Given the description of an element on the screen output the (x, y) to click on. 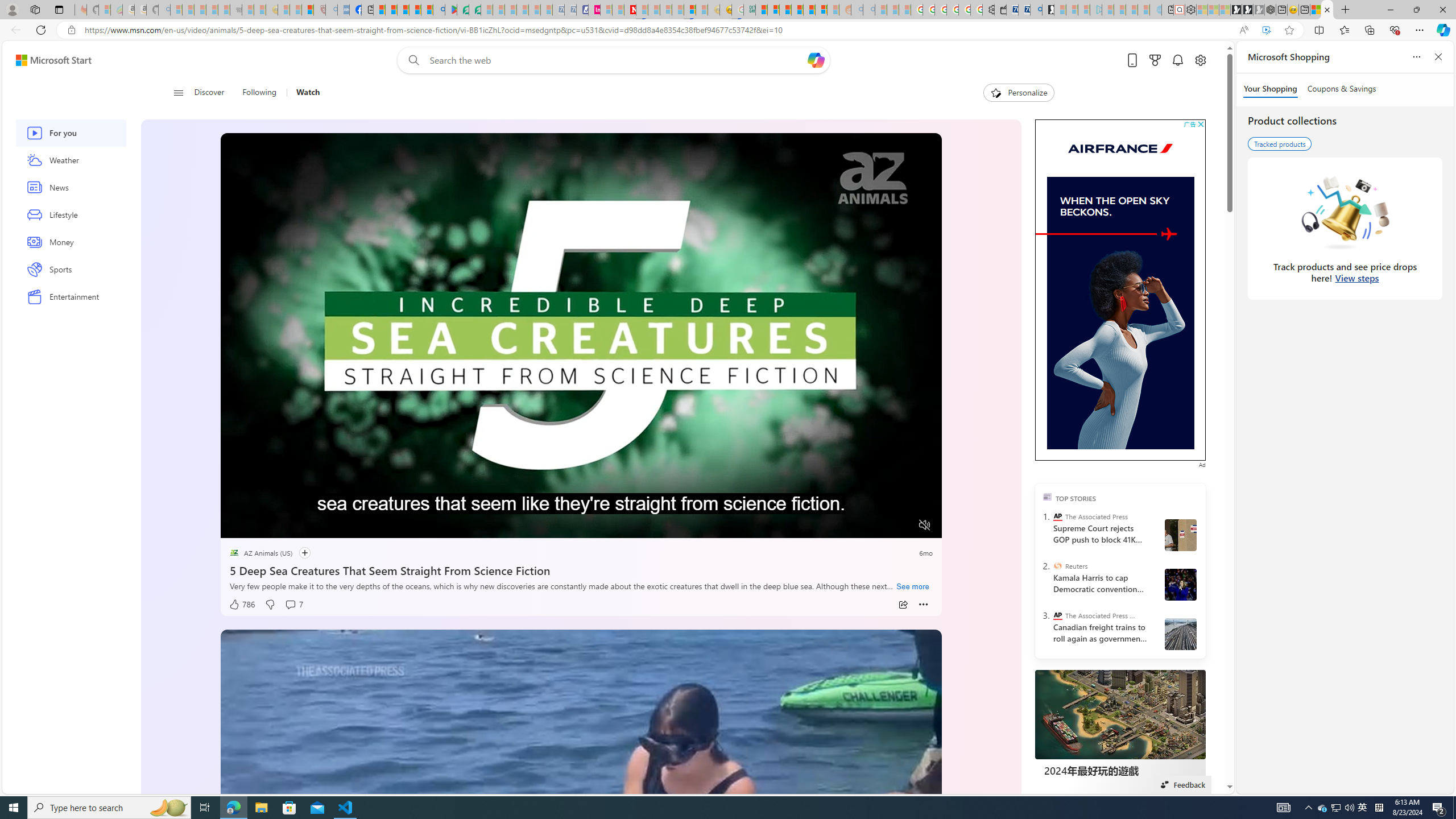
5 Deep Sea Creatures That Seem Straight From Science Fiction (581, 568)
Enter your search term (617, 59)
786 Like (242, 604)
Kinda Frugal - MSN (808, 9)
Cheap Car Rentals - Save70.com (1024, 9)
